Given the description of an element on the screen output the (x, y) to click on. 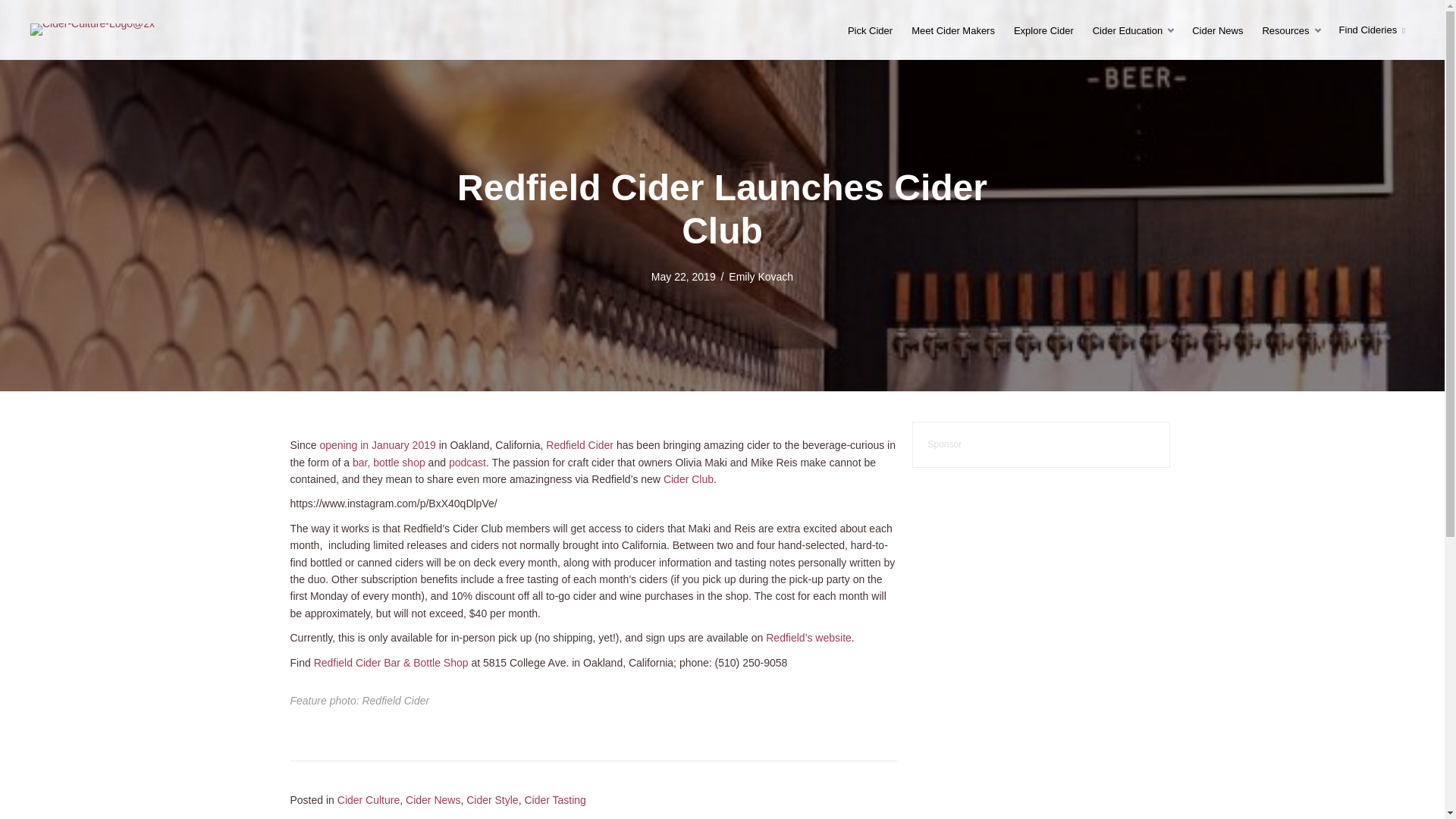
Explore Cider (1043, 30)
Cider Style (491, 799)
Meet Cider Makers (953, 30)
Cider News (433, 799)
bar, bottle shop (388, 462)
opening in January 2019 (376, 444)
Cider Club (688, 479)
Redfield Cider (579, 444)
Pick Cider (869, 30)
Cider Tasting (554, 799)
